Given the description of an element on the screen output the (x, y) to click on. 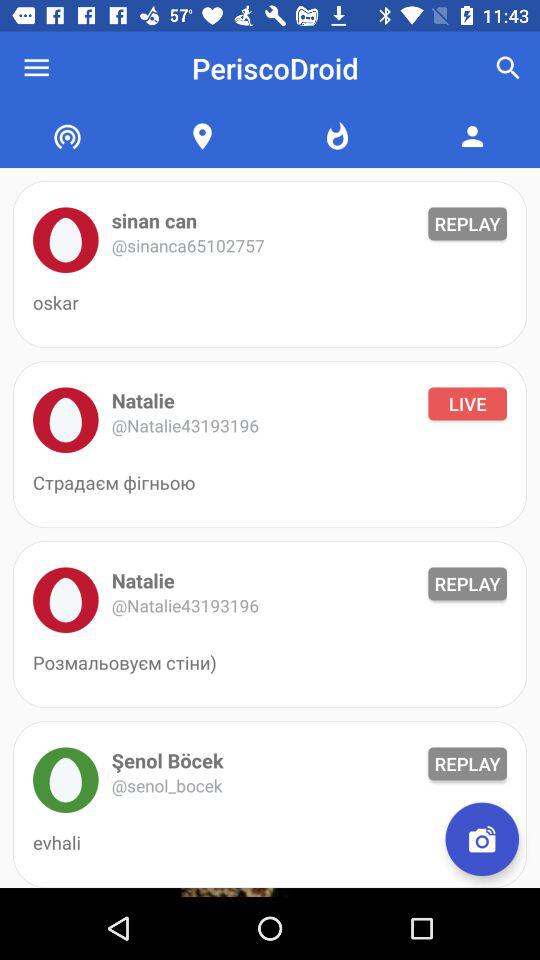
select app (65, 780)
